Given the description of an element on the screen output the (x, y) to click on. 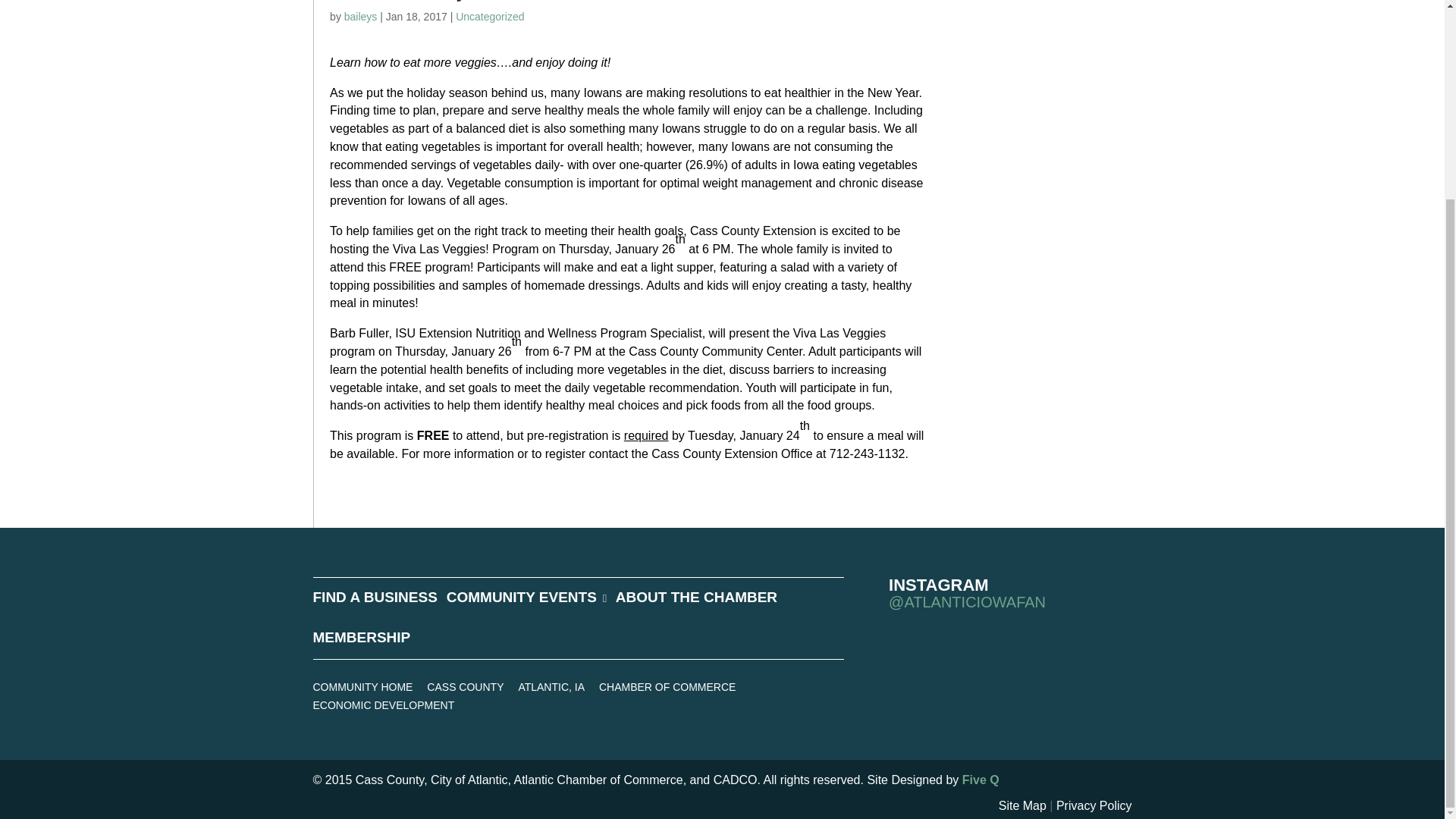
Posts by baileys (360, 16)
